Given the description of an element on the screen output the (x, y) to click on. 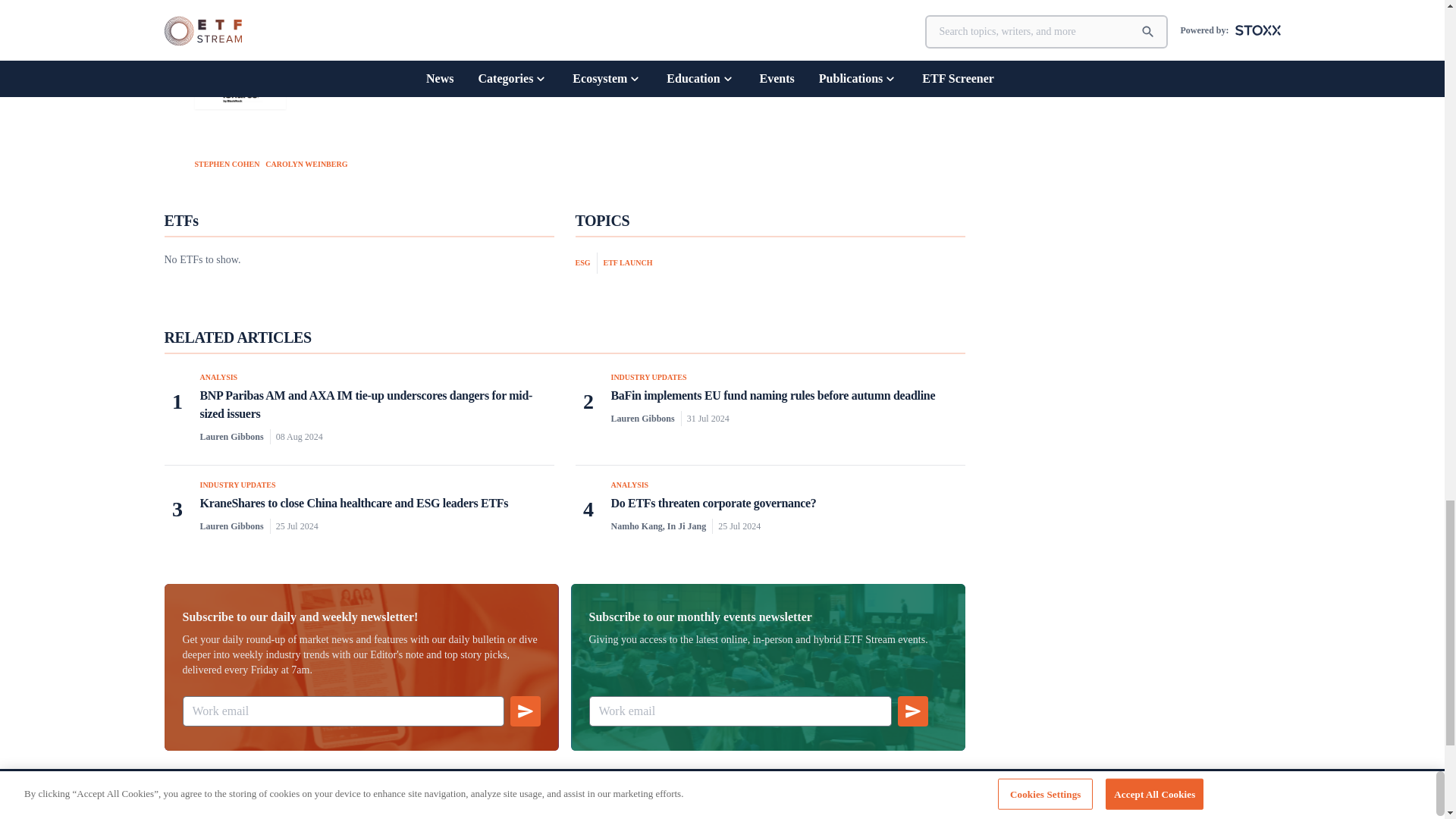
CAROLYN WEINBERG (305, 162)
ETF LAUNCH (628, 263)
ESG (585, 262)
STEPHEN COHEN (226, 162)
